Given the description of an element on the screen output the (x, y) to click on. 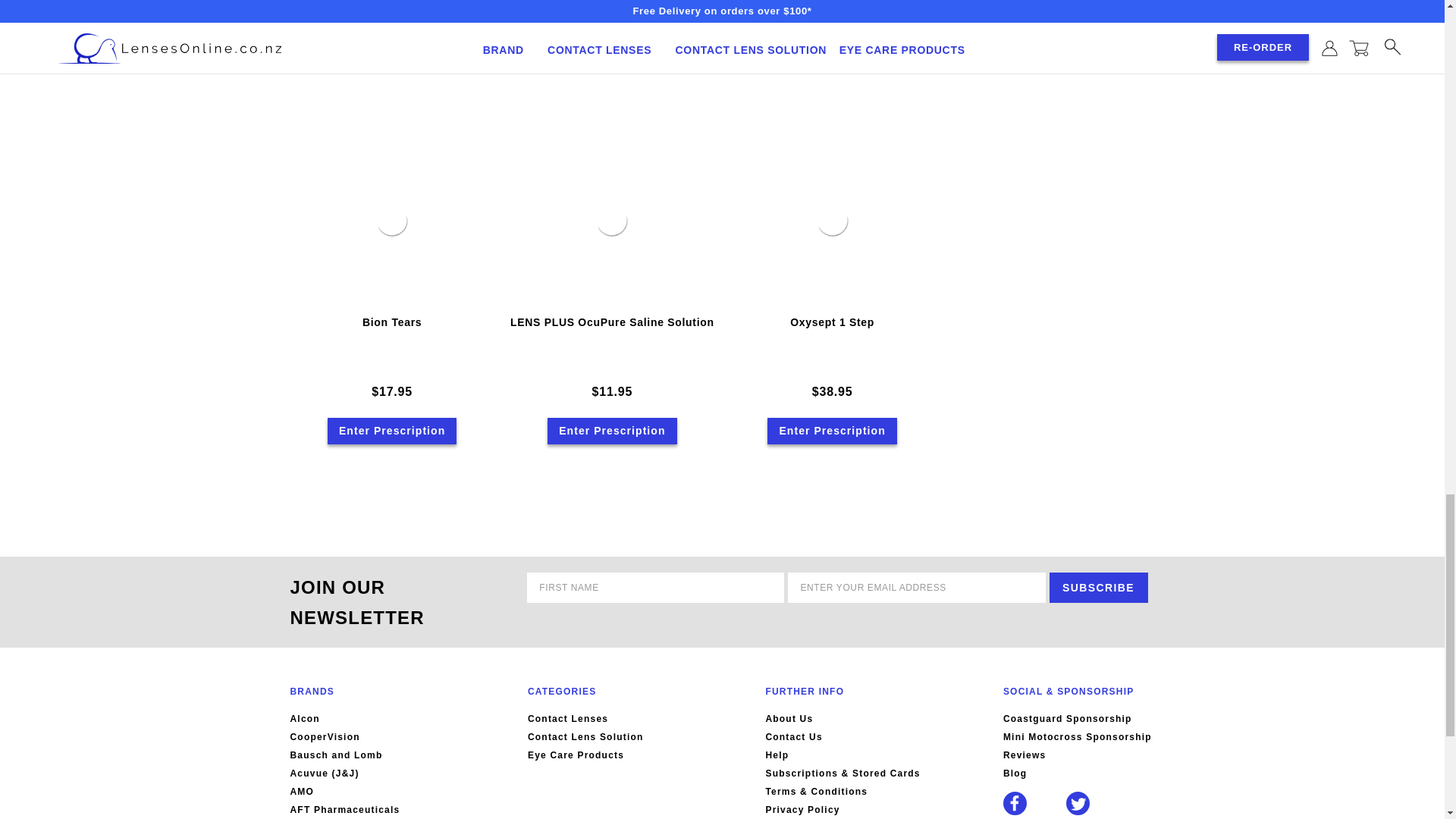
First Name (655, 587)
Subscribe (1098, 587)
enter your email address (916, 587)
